Given the description of an element on the screen output the (x, y) to click on. 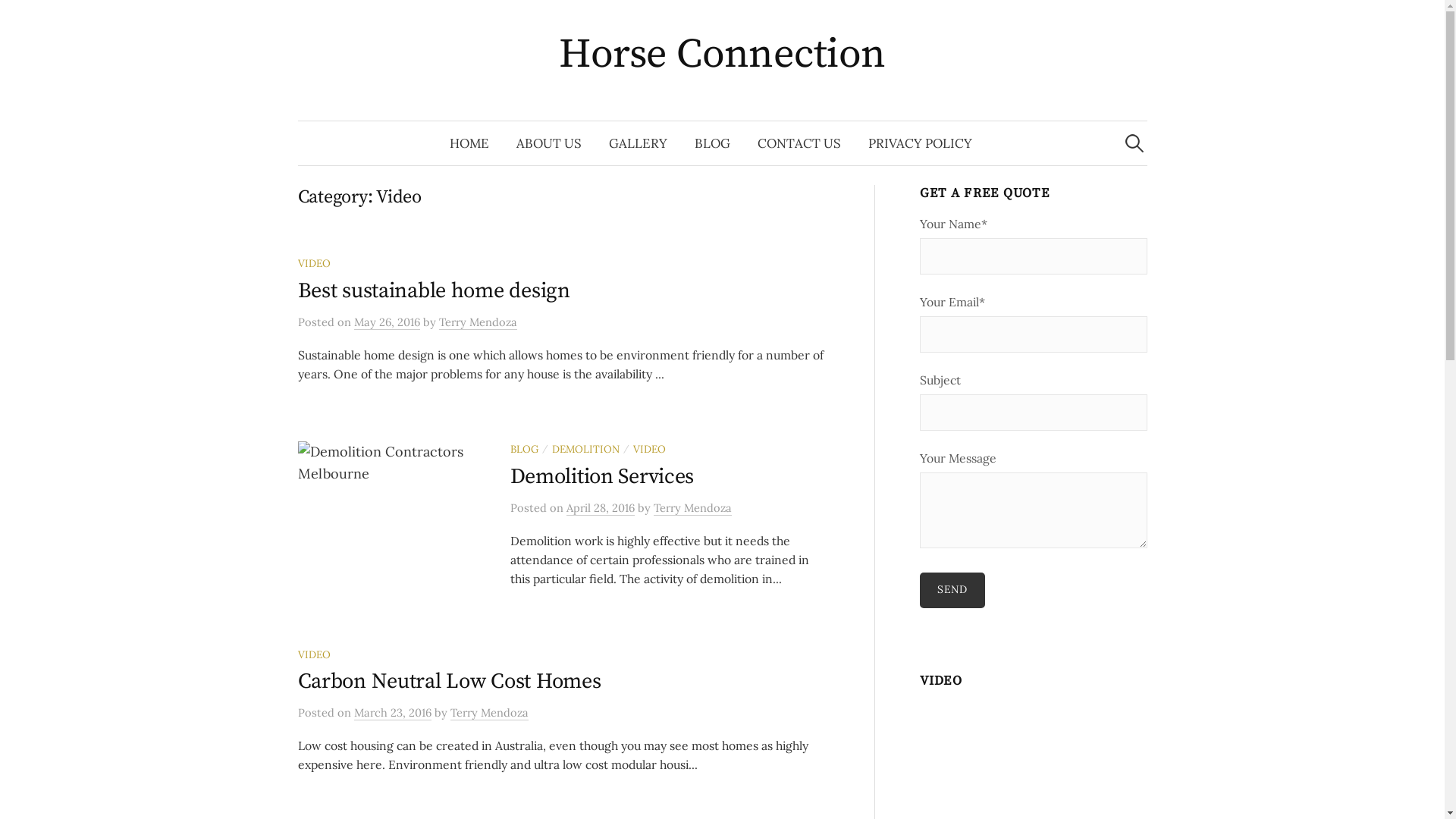
Carbon Neutral Low Cost Homes Element type: text (448, 681)
Horse Connection Element type: text (721, 54)
Terry Mendoza Element type: text (477, 321)
CONTACT US Element type: text (798, 143)
Demolition Services Element type: text (601, 476)
VIDEO Element type: text (313, 262)
GALLERY Element type: text (637, 143)
Send Element type: text (952, 590)
VIDEO Element type: text (313, 654)
VIDEO Element type: text (648, 448)
HOME Element type: text (469, 143)
PRIVACY POLICY Element type: text (919, 143)
Best sustainable home design Element type: text (433, 290)
BLOG Element type: text (523, 448)
Search Element type: text (18, 18)
March 23, 2016 Element type: text (391, 712)
ABOUT US Element type: text (548, 143)
May 26, 2016 Element type: text (386, 321)
Terry Mendoza Element type: text (692, 507)
DEMOLITION Element type: text (585, 448)
Terry Mendoza Element type: text (489, 712)
April 28, 2016 Element type: text (599, 507)
BLOG Element type: text (711, 143)
